Given the description of an element on the screen output the (x, y) to click on. 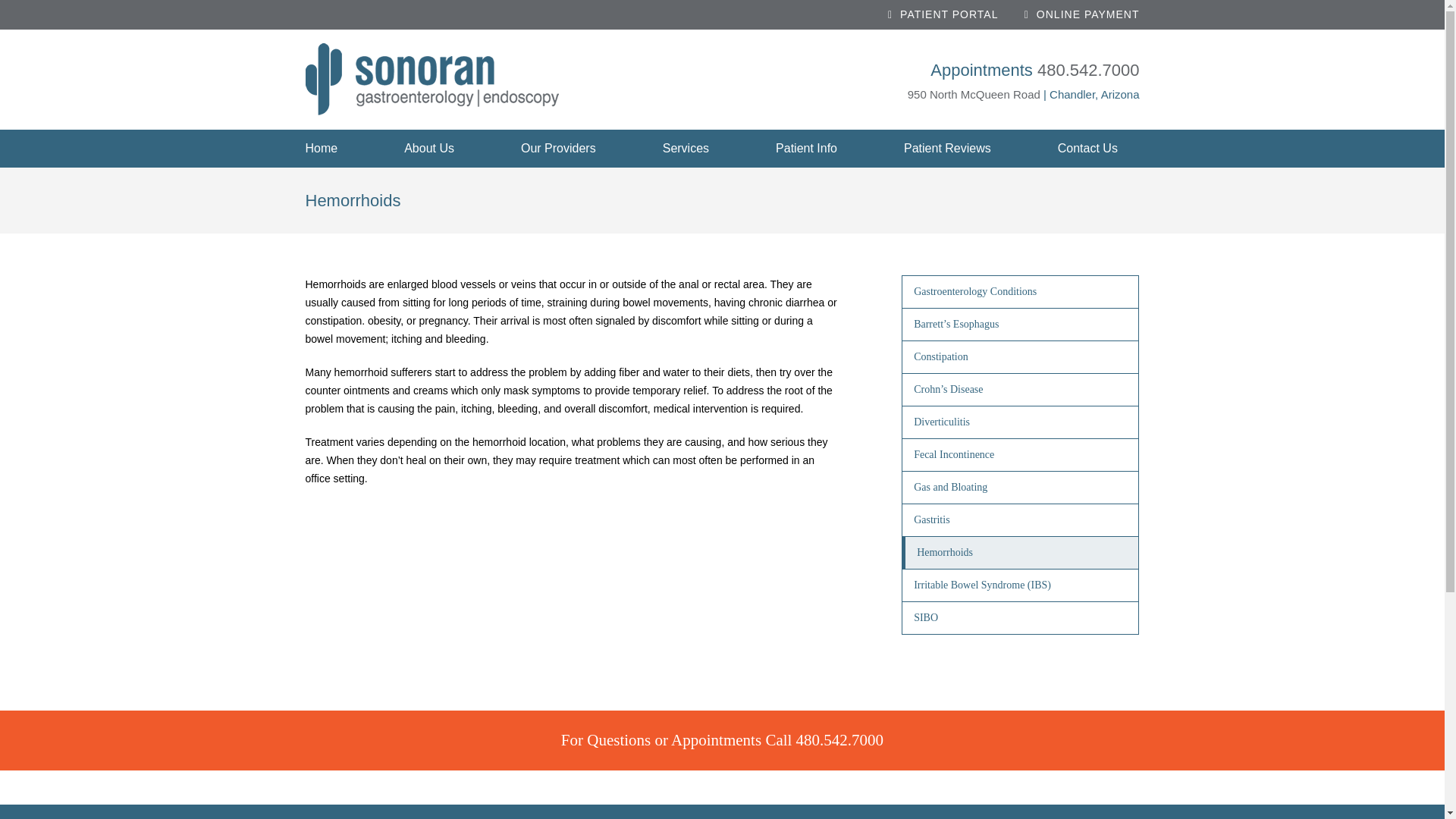
Patient Info (806, 148)
Our Providers (558, 148)
480.542.7000 (1088, 69)
Services (685, 148)
About Us (429, 148)
PATIENT PORTAL (942, 14)
Patient Reviews (947, 148)
Contact Us (1088, 148)
ONLINE PAYMENT (1082, 14)
